Given the description of an element on the screen output the (x, y) to click on. 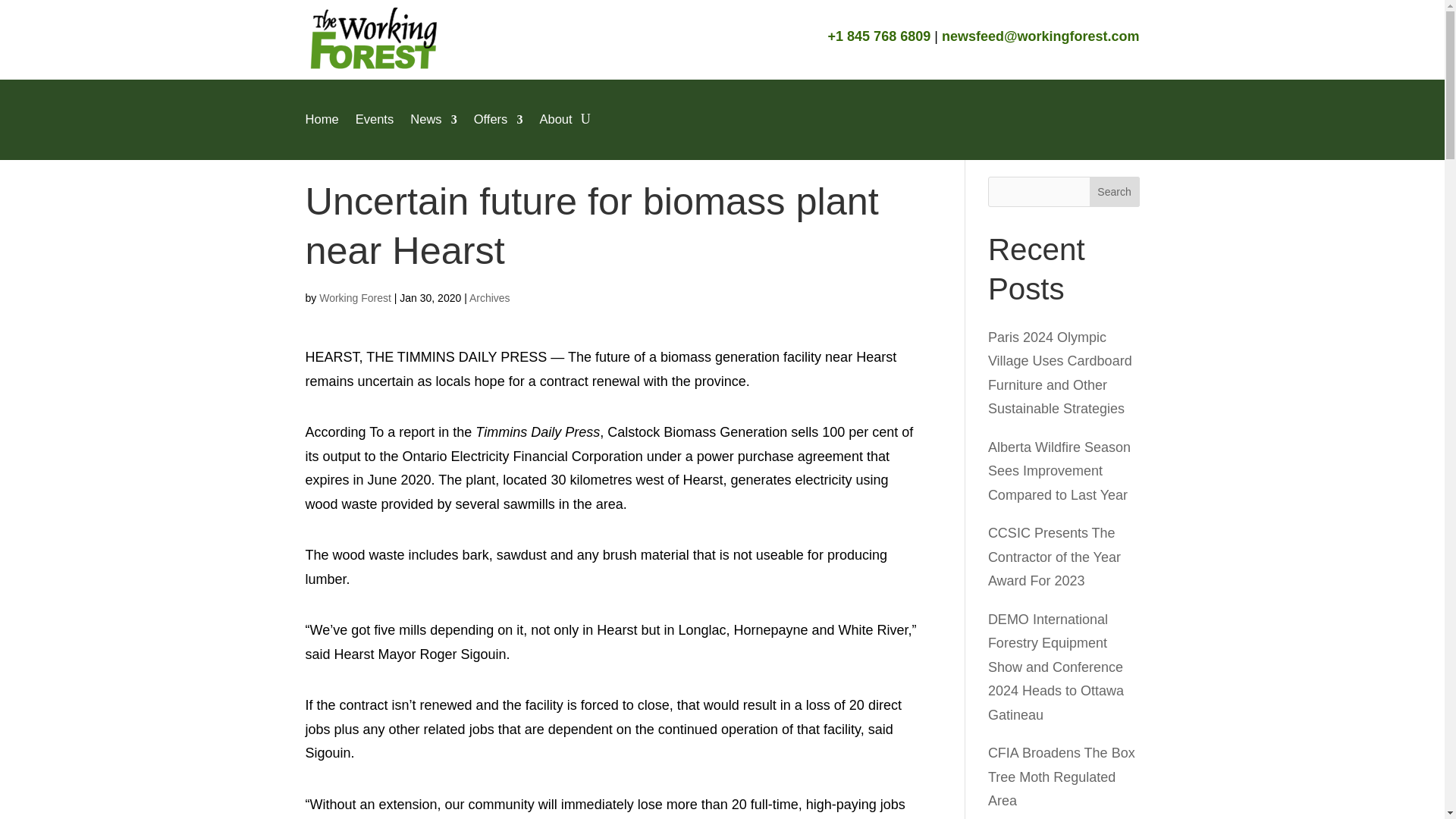
About (555, 119)
Offers (498, 119)
Home (320, 119)
CFIA Broadens The Box Tree Moth Regulated Area (1061, 776)
Events (374, 119)
Working Forest (354, 297)
CCSIC Presents The Contractor of the Year Award For 2023 (1054, 556)
Posts by Working Forest (354, 297)
Archives (489, 297)
News (433, 119)
Search (1114, 191)
